Given the description of an element on the screen output the (x, y) to click on. 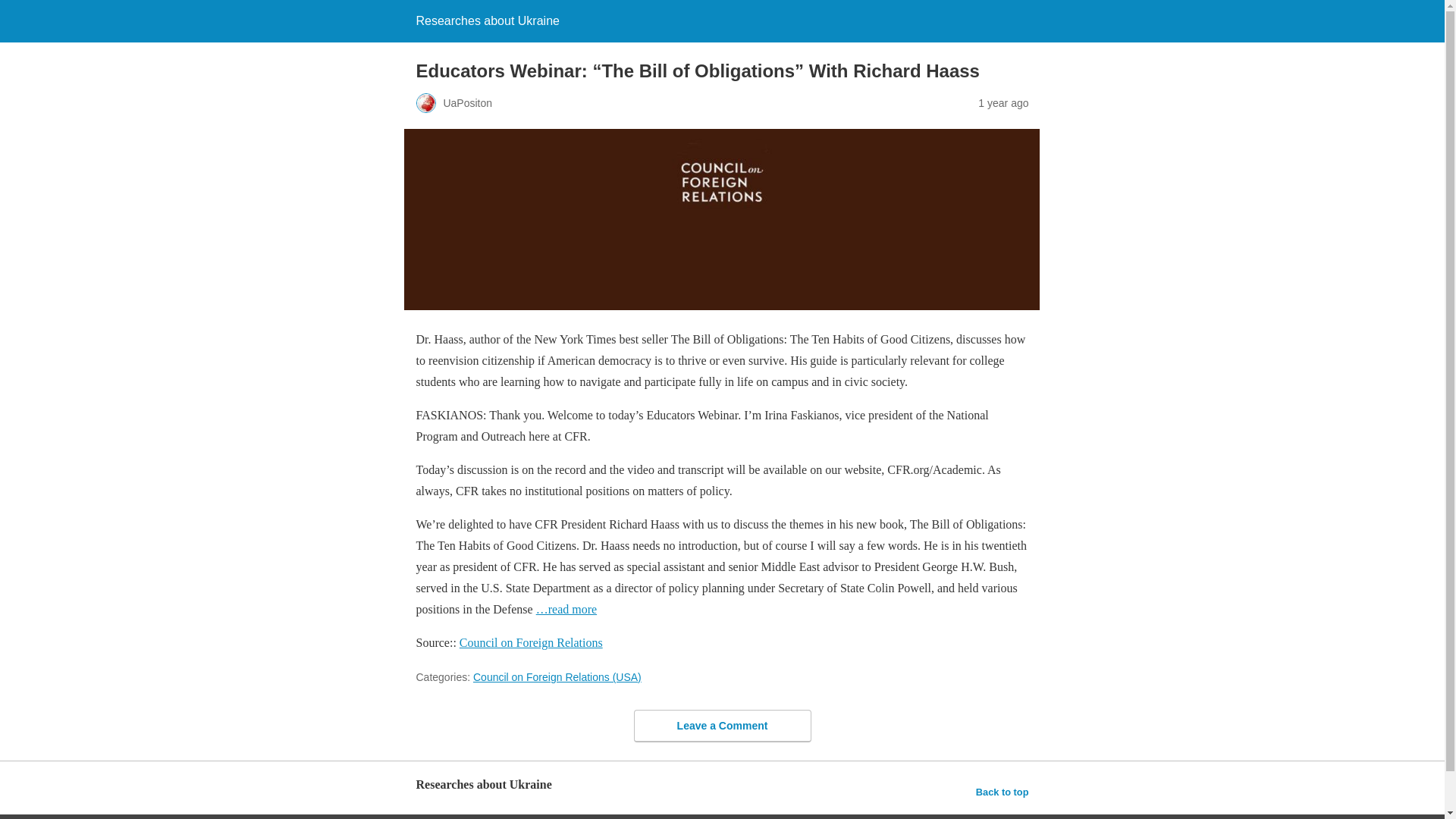
Researches about Ukraine (486, 20)
Leave a Comment (721, 726)
Back to top (1002, 792)
Council on Foreign Relations (531, 642)
